Given the description of an element on the screen output the (x, y) to click on. 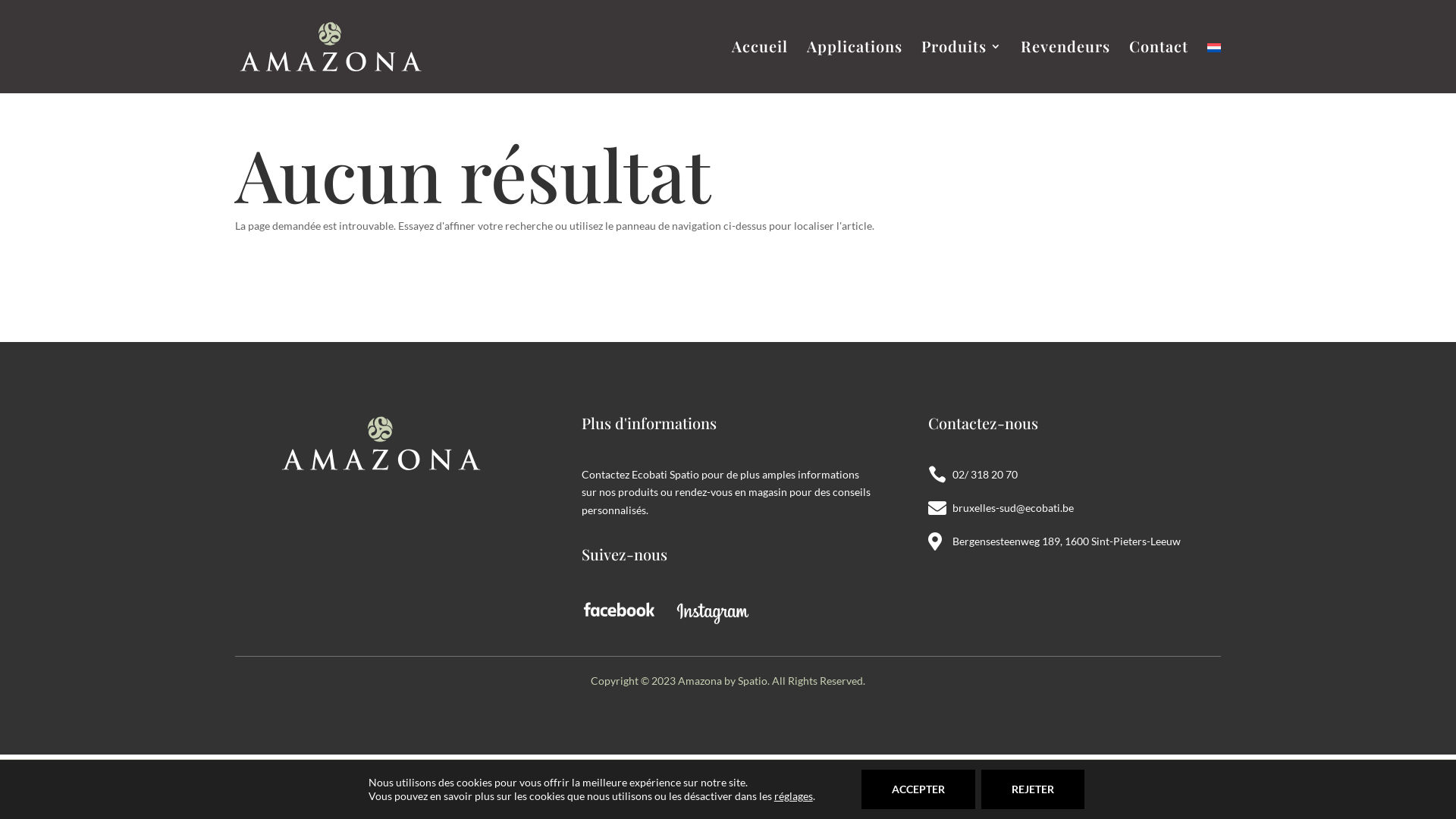
REJETER Element type: text (1032, 789)
Produits Element type: text (961, 66)
Accueil Element type: text (759, 66)
bruxelles-sud@ecobati.be Element type: text (1012, 507)
ACCEPTER Element type: text (918, 789)
Applications Element type: text (854, 66)
logo-amazona-spatio-blanc Element type: hover (381, 442)
Revendeurs Element type: text (1065, 66)
Contact Element type: text (1158, 66)
